Given the description of an element on the screen output the (x, y) to click on. 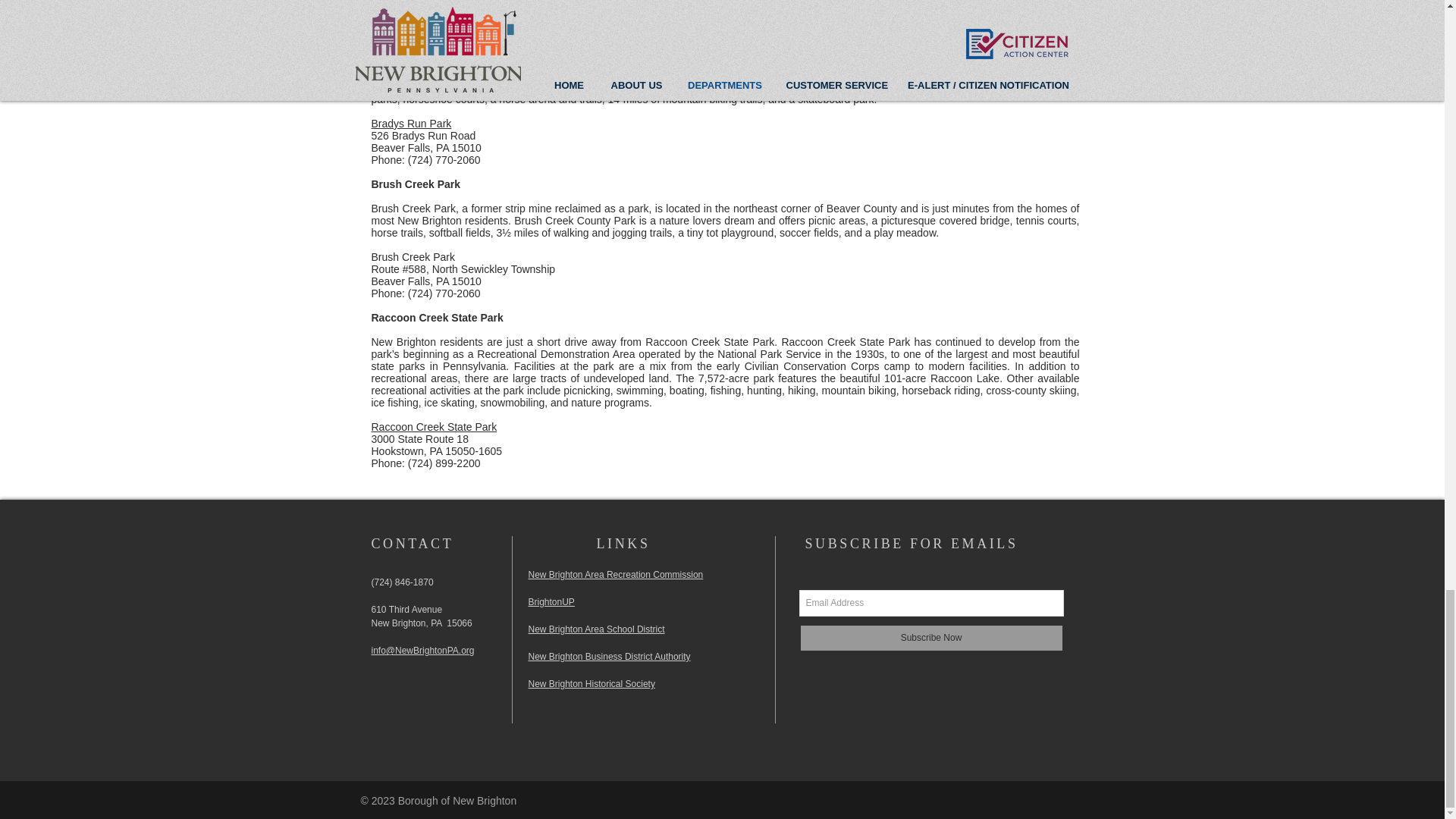
Bradys Run Park (411, 123)
Raccoon Creek State Park (434, 426)
